Given the description of an element on the screen output the (x, y) to click on. 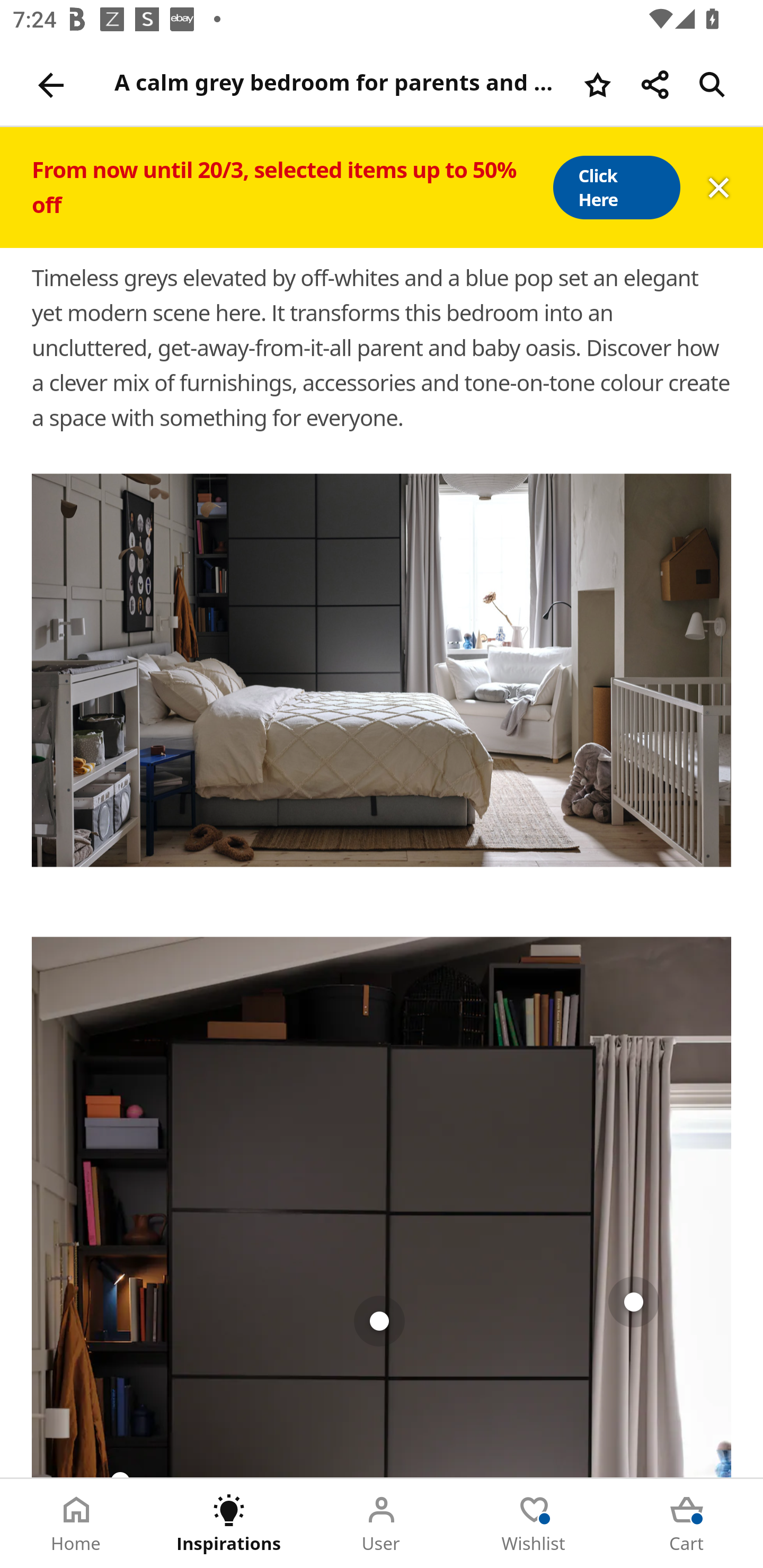
Click Here (615, 187)
Home
Tab 1 of 5 (76, 1522)
Inspirations
Tab 2 of 5 (228, 1522)
User
Tab 3 of 5 (381, 1522)
Wishlist
Tab 4 of 5 (533, 1522)
Cart
Tab 5 of 5 (686, 1522)
